Given the description of an element on the screen output the (x, y) to click on. 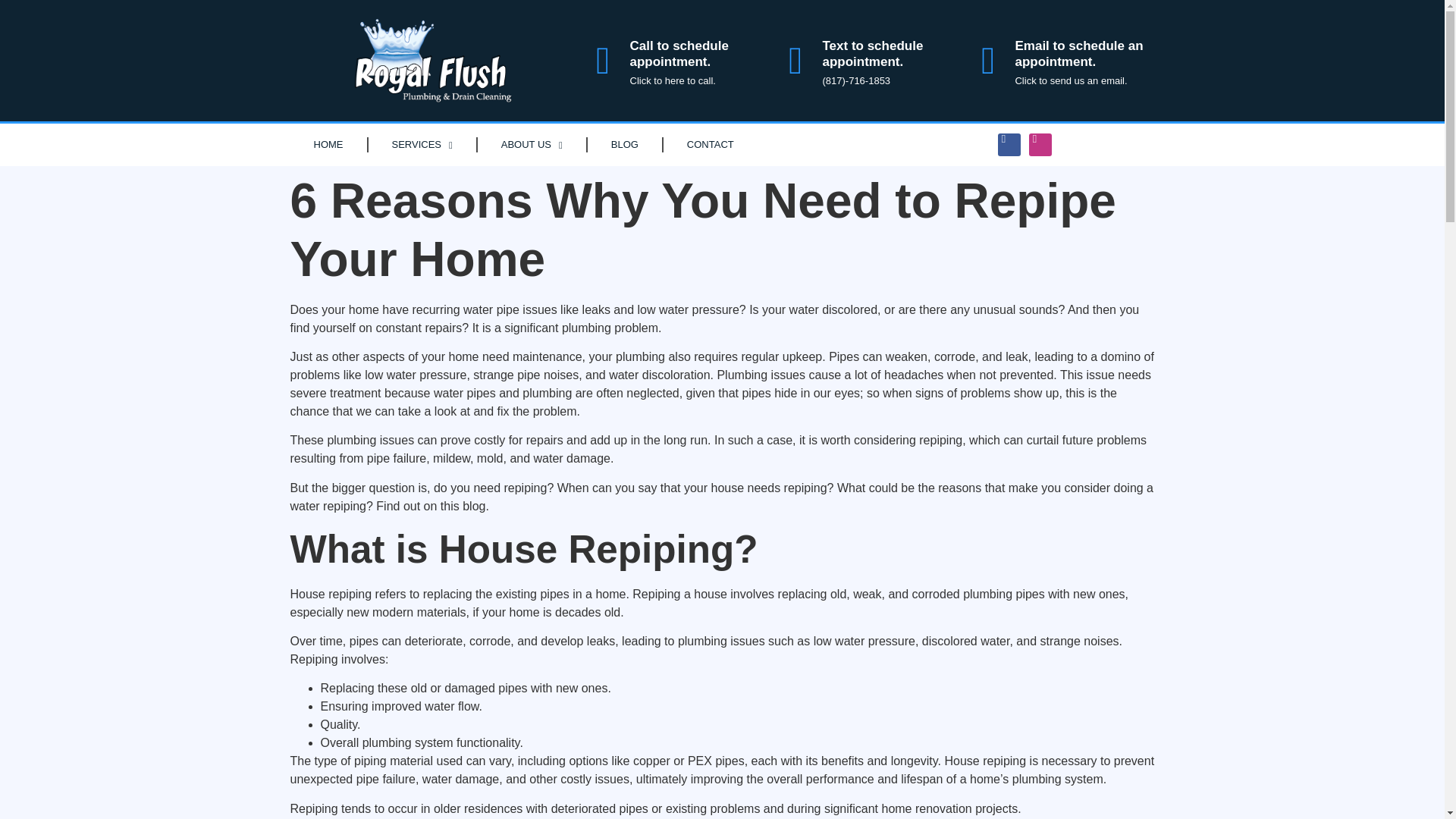
SERVICES (422, 144)
Call to schedule appointment. (678, 52)
HOME (327, 144)
Email to schedule an appointment. (1078, 52)
CONTACT (710, 144)
BLOG (625, 144)
ABOUT US (531, 144)
